Given the description of an element on the screen output the (x, y) to click on. 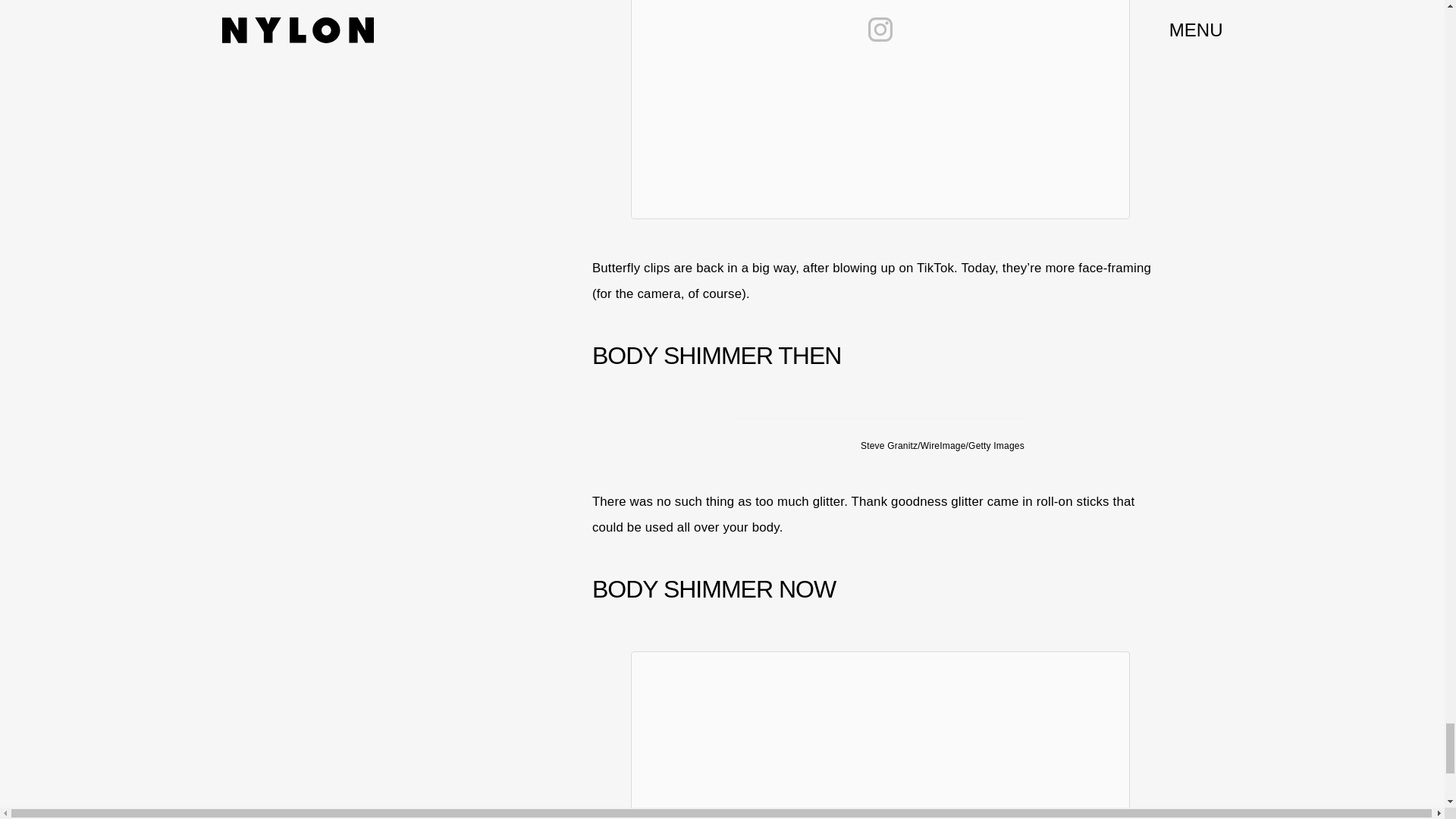
View on Instagram (879, 29)
